Given the description of an element on the screen output the (x, y) to click on. 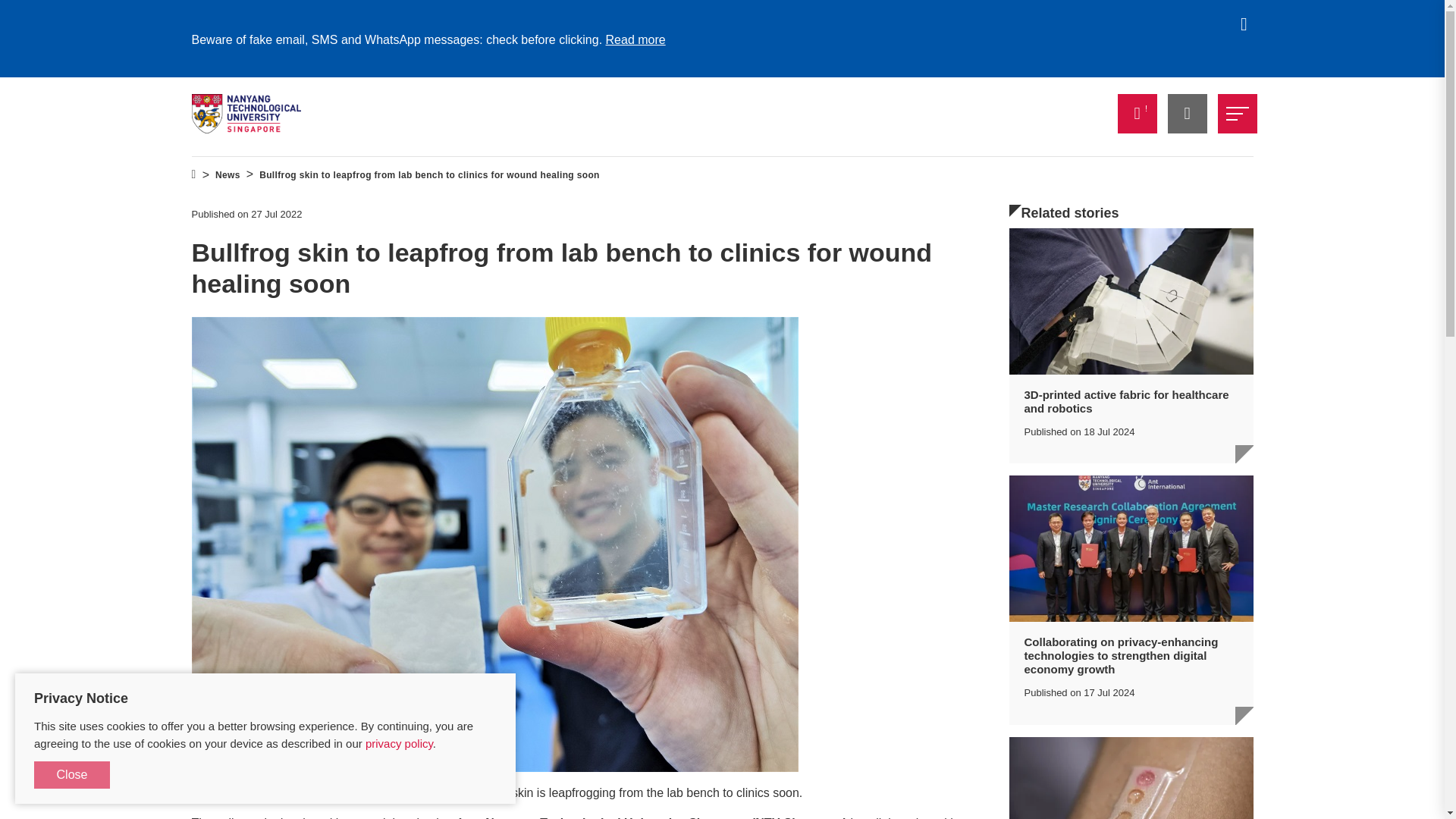
Read more (635, 39)
privacy policy (398, 743)
News (227, 175)
Nanyang Technological University (245, 113)
Close (71, 774)
